Given the description of an element on the screen output the (x, y) to click on. 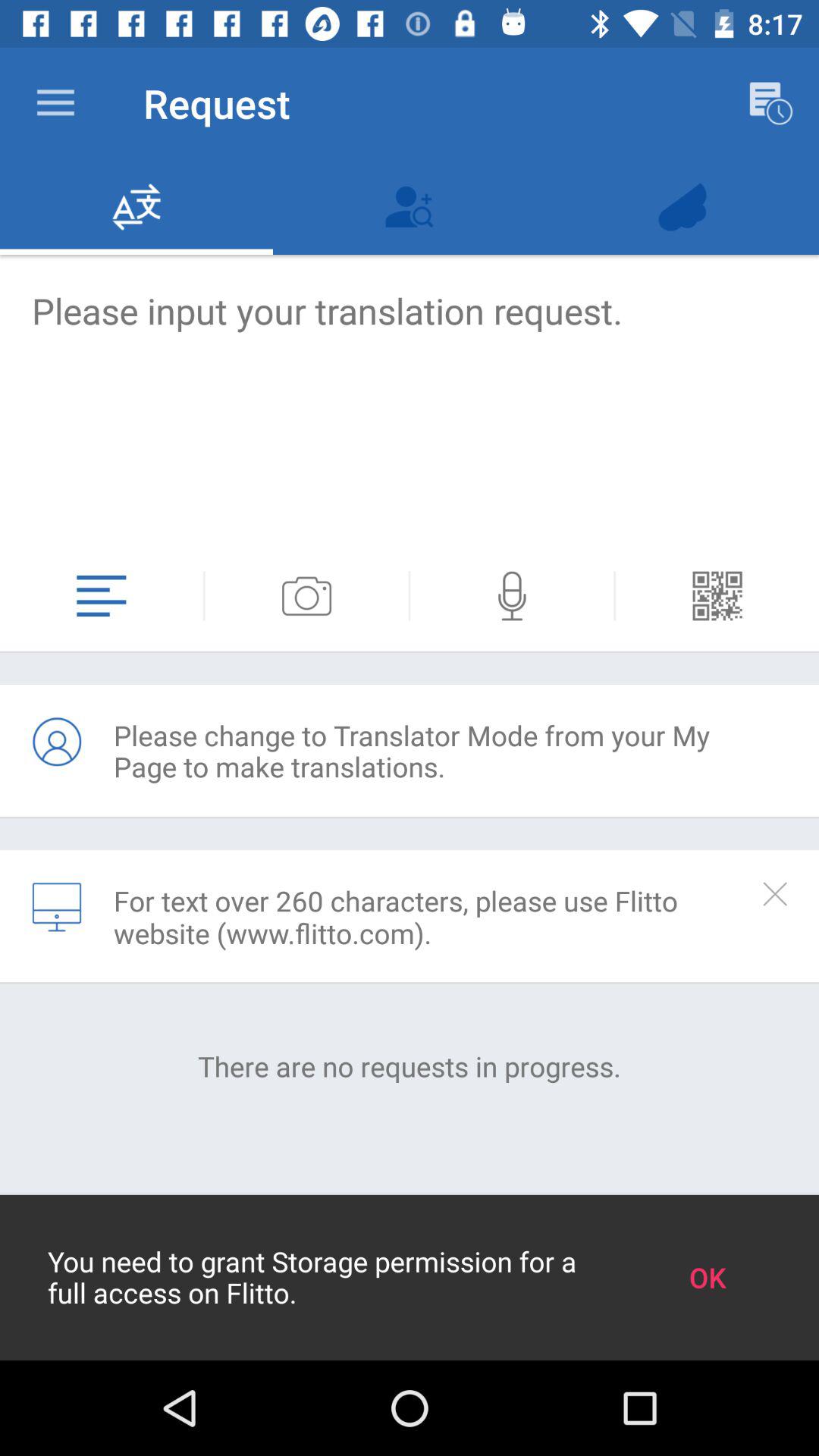
open camera (306, 596)
